Given the description of an element on the screen output the (x, y) to click on. 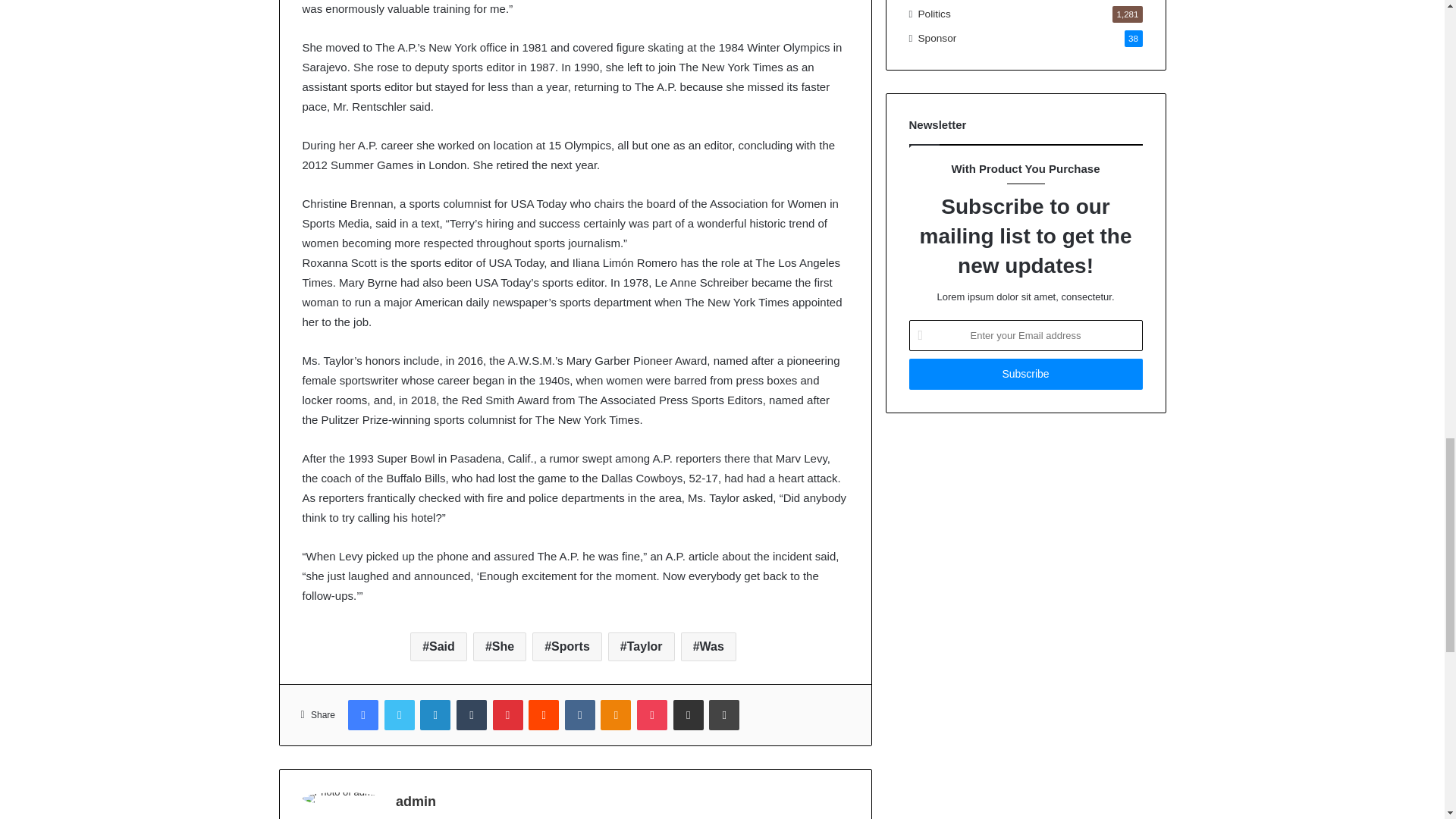
She (499, 646)
Taylor (641, 646)
Subscribe (1025, 373)
Said (438, 646)
Sports (567, 646)
